Given the description of an element on the screen output the (x, y) to click on. 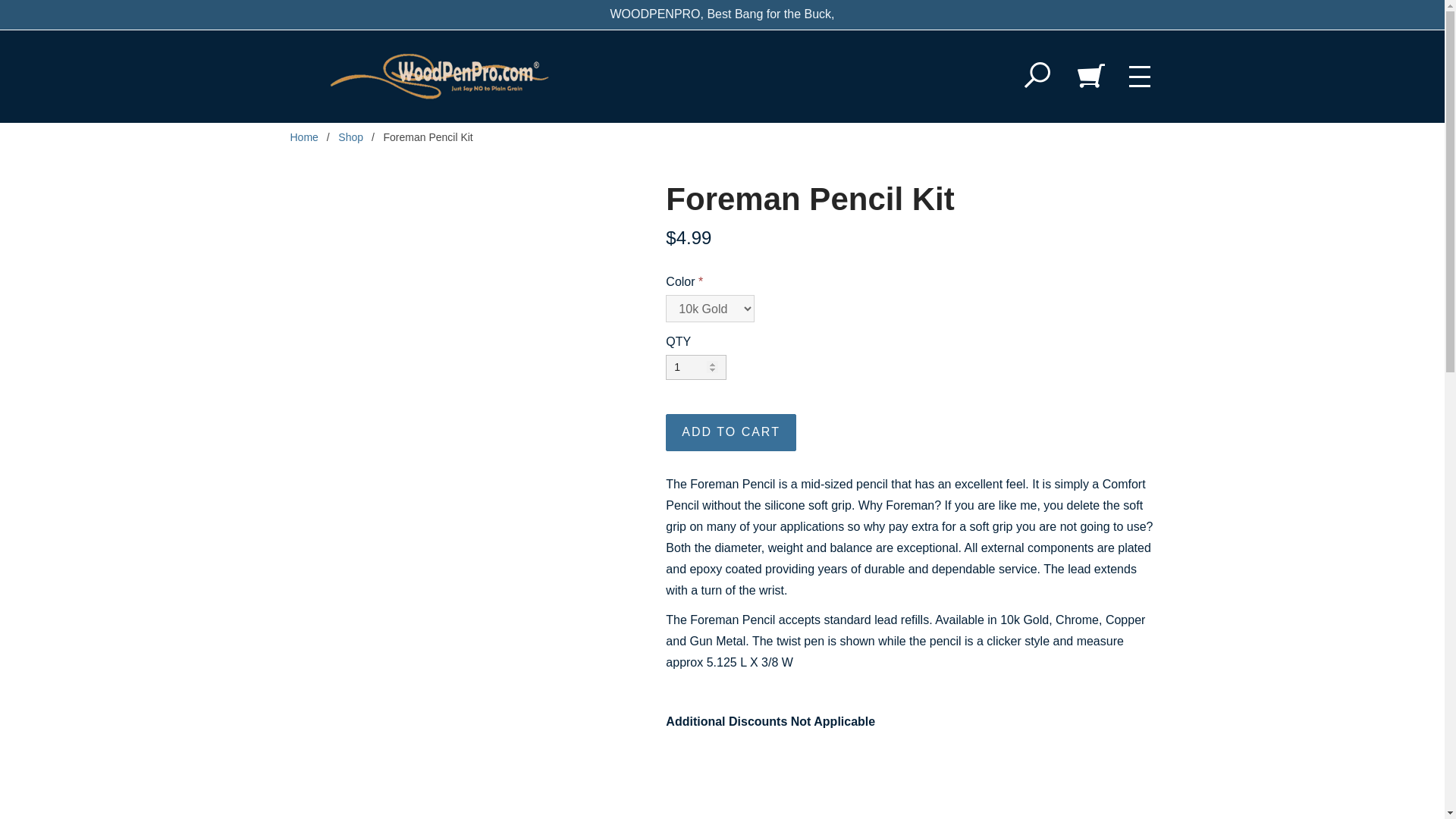
Home (303, 137)
Shop (349, 137)
1 (695, 367)
Add to Cart (730, 432)
Add to Cart (730, 432)
